Given the description of an element on the screen output the (x, y) to click on. 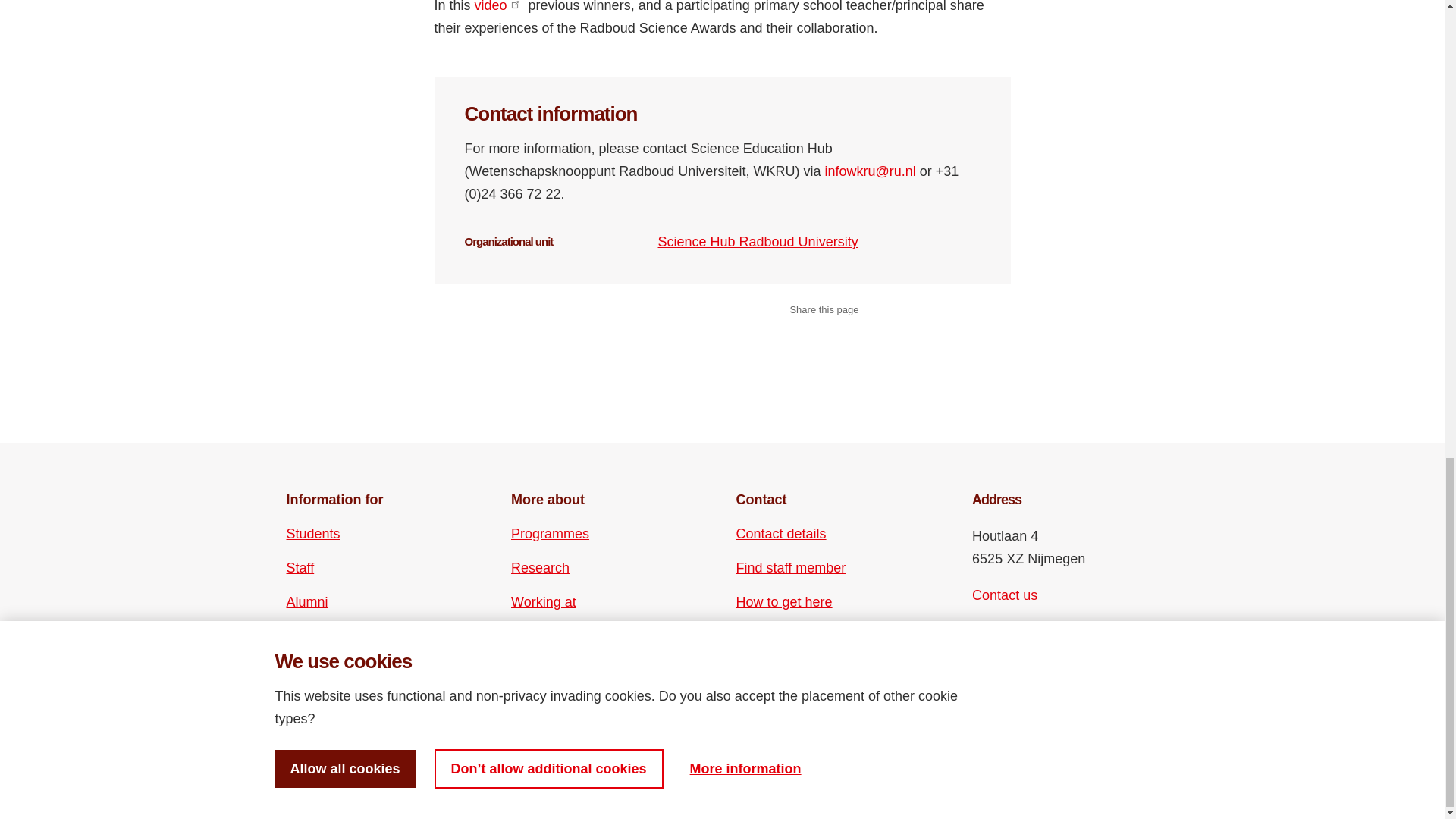
X (983, 667)
LinkedIn (1036, 640)
Information about our campus and how to get here (784, 601)
Mastodon (1062, 640)
SnapChat (1062, 667)
Facebook (983, 640)
TikTok (1036, 667)
Instagram (1010, 640)
YouTube (1010, 667)
